Given the description of an element on the screen output the (x, y) to click on. 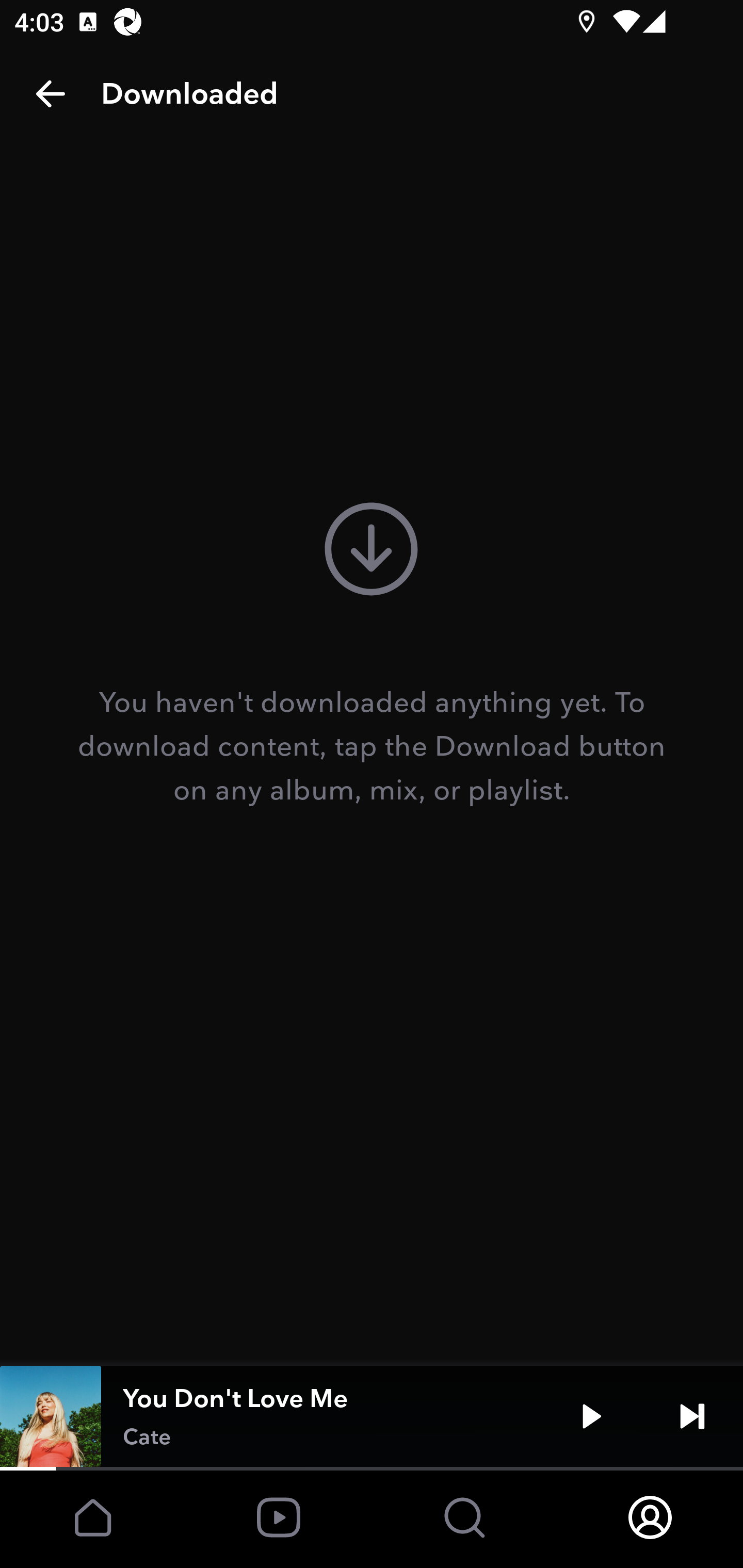
Back (50, 93)
You Don't Love Me Cate Play (371, 1416)
Play (590, 1416)
